Given the description of an element on the screen output the (x, y) to click on. 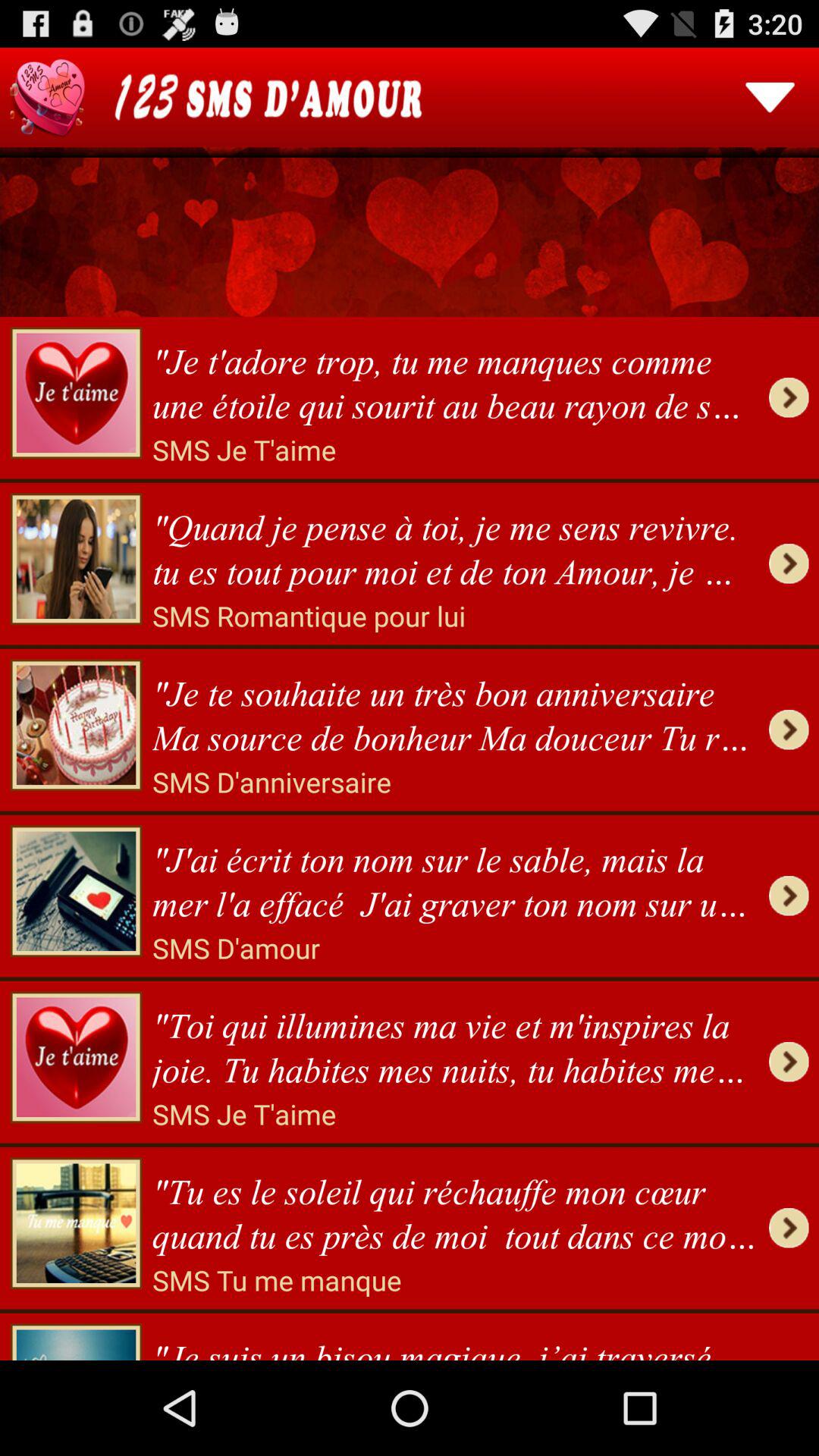
turn off icon above je te souhaite item (308, 615)
